Given the description of an element on the screen output the (x, y) to click on. 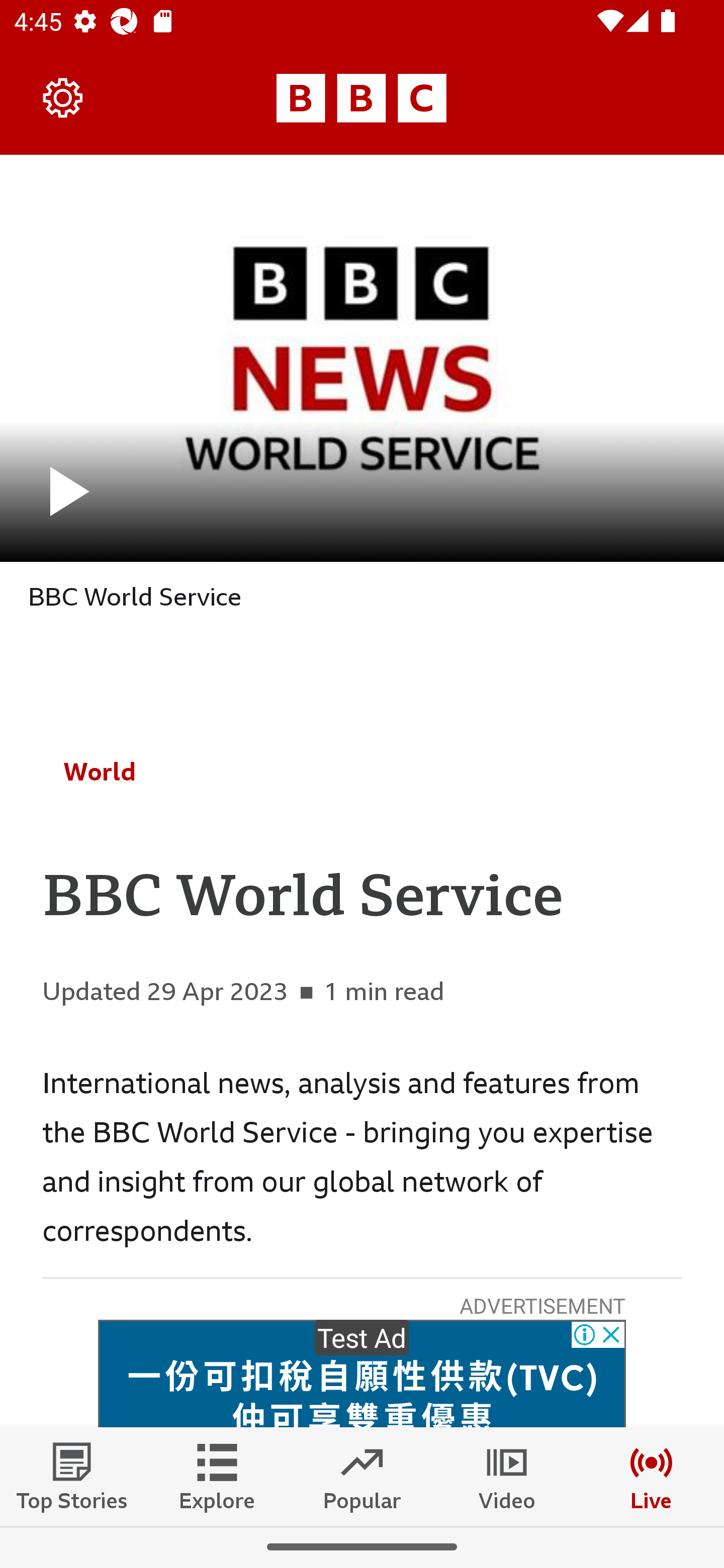
Settings (63, 97)
play fullscreen (362, 358)
World (99, 771)
Top Stories (72, 1475)
Explore (216, 1475)
Popular (361, 1475)
Video (506, 1475)
